Given the description of an element on the screen output the (x, y) to click on. 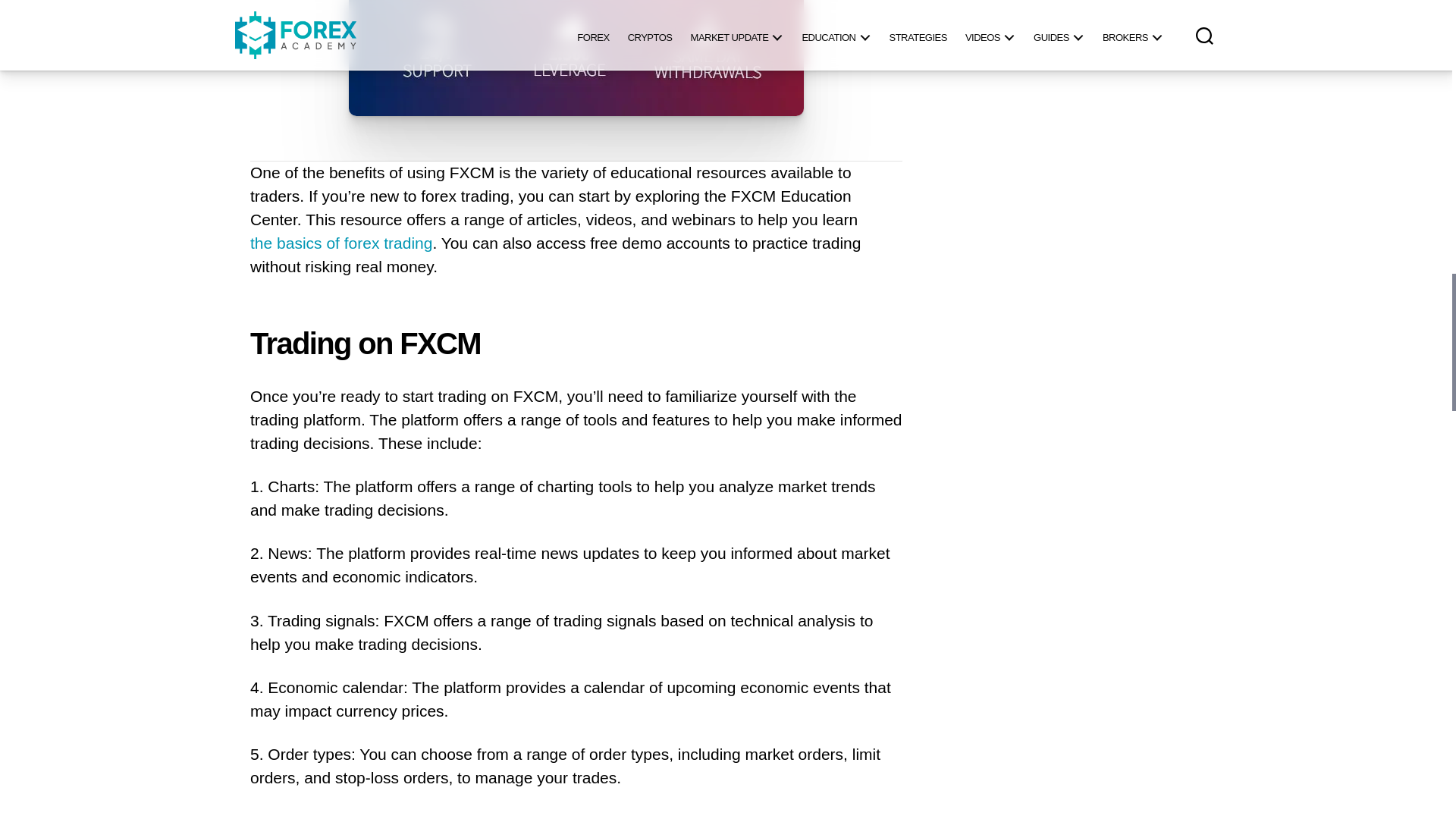
the basics of forex trading (341, 243)
